Given the description of an element on the screen output the (x, y) to click on. 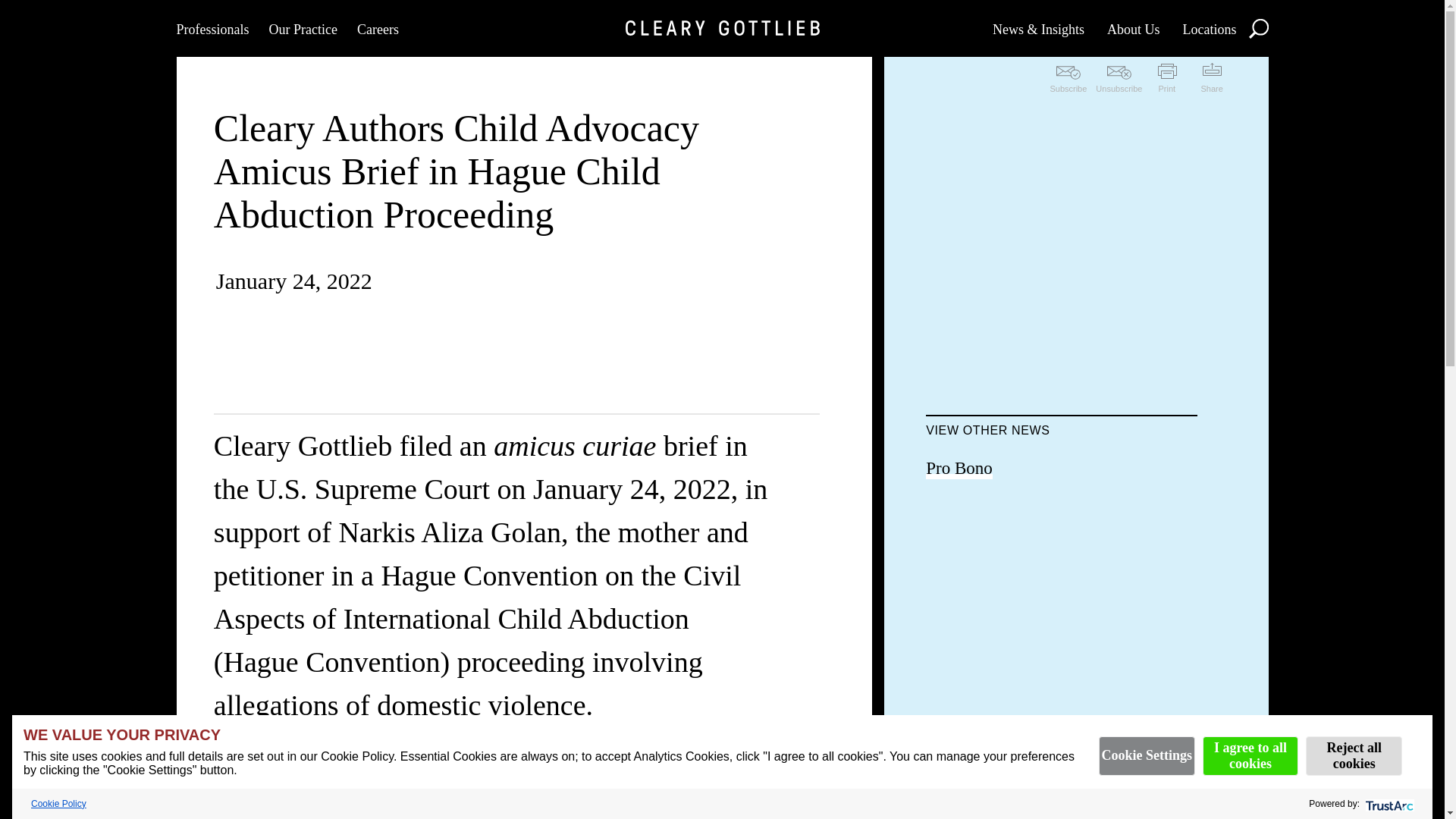
Home (721, 28)
Search (1257, 27)
Locations (1209, 28)
Professionals (212, 28)
About Us (1133, 28)
Our Practice (301, 28)
About Us (1133, 28)
Locations (1209, 28)
Professionals (212, 28)
Our Practice (301, 28)
